Given the description of an element on the screen output the (x, y) to click on. 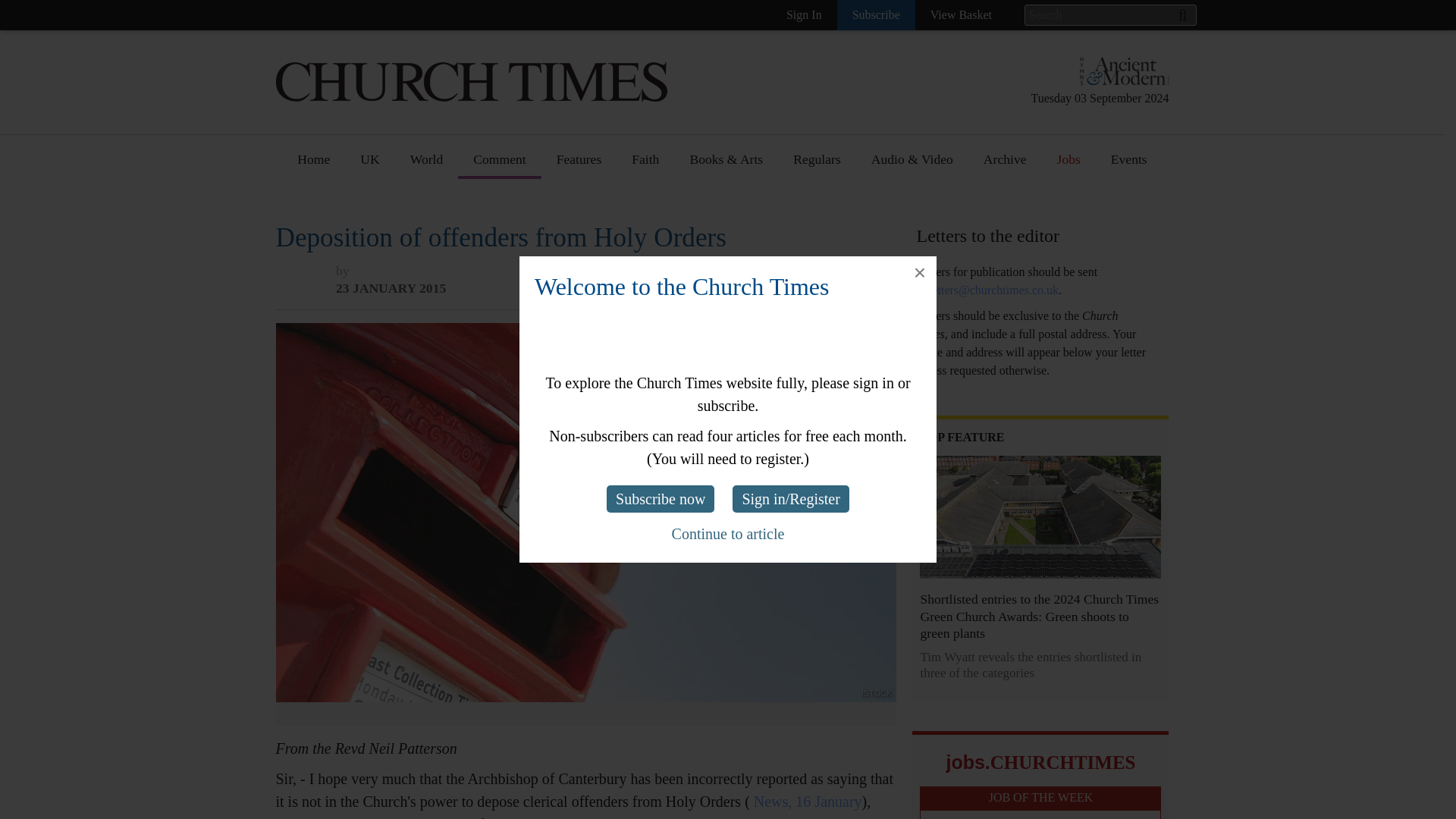
Continue to article (727, 533)
Regulars (816, 164)
Film (702, 371)
Opinion (495, 204)
Faith (644, 164)
Week ahead (721, 456)
World (426, 164)
Book club (717, 260)
Visual arts (718, 287)
Book reviews (726, 204)
